Given the description of an element on the screen output the (x, y) to click on. 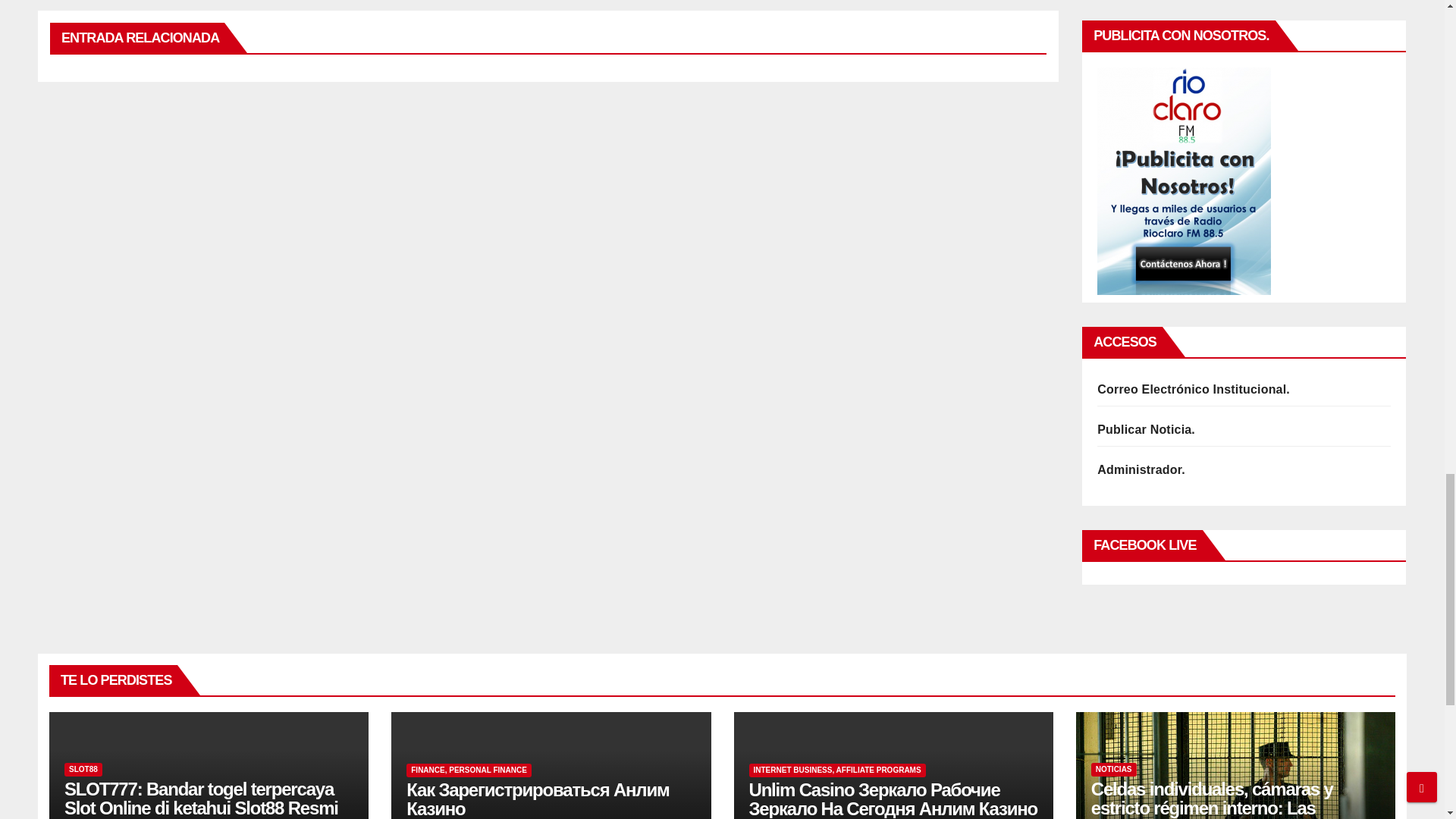
Publicar Noticia. (1146, 429)
Administrador. (1141, 469)
